Given the description of an element on the screen output the (x, y) to click on. 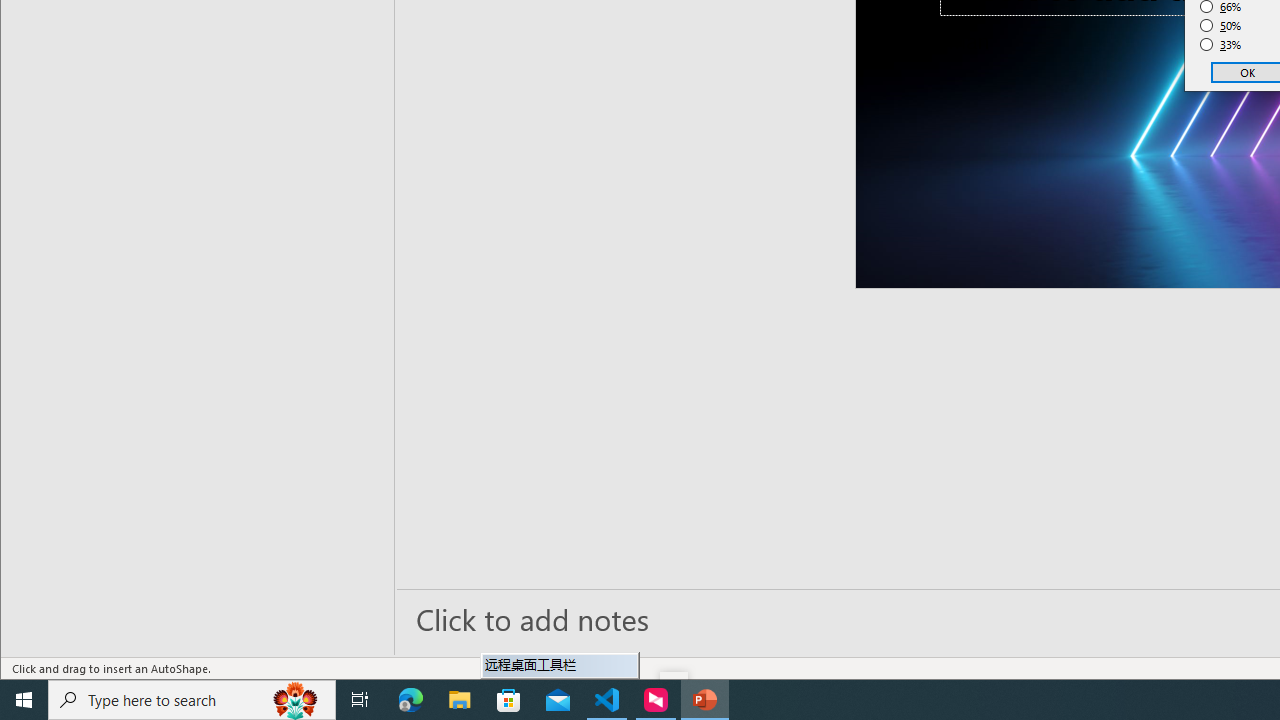
50% (1221, 25)
33% (1221, 44)
Microsoft Edge (411, 699)
